Given the description of an element on the screen output the (x, y) to click on. 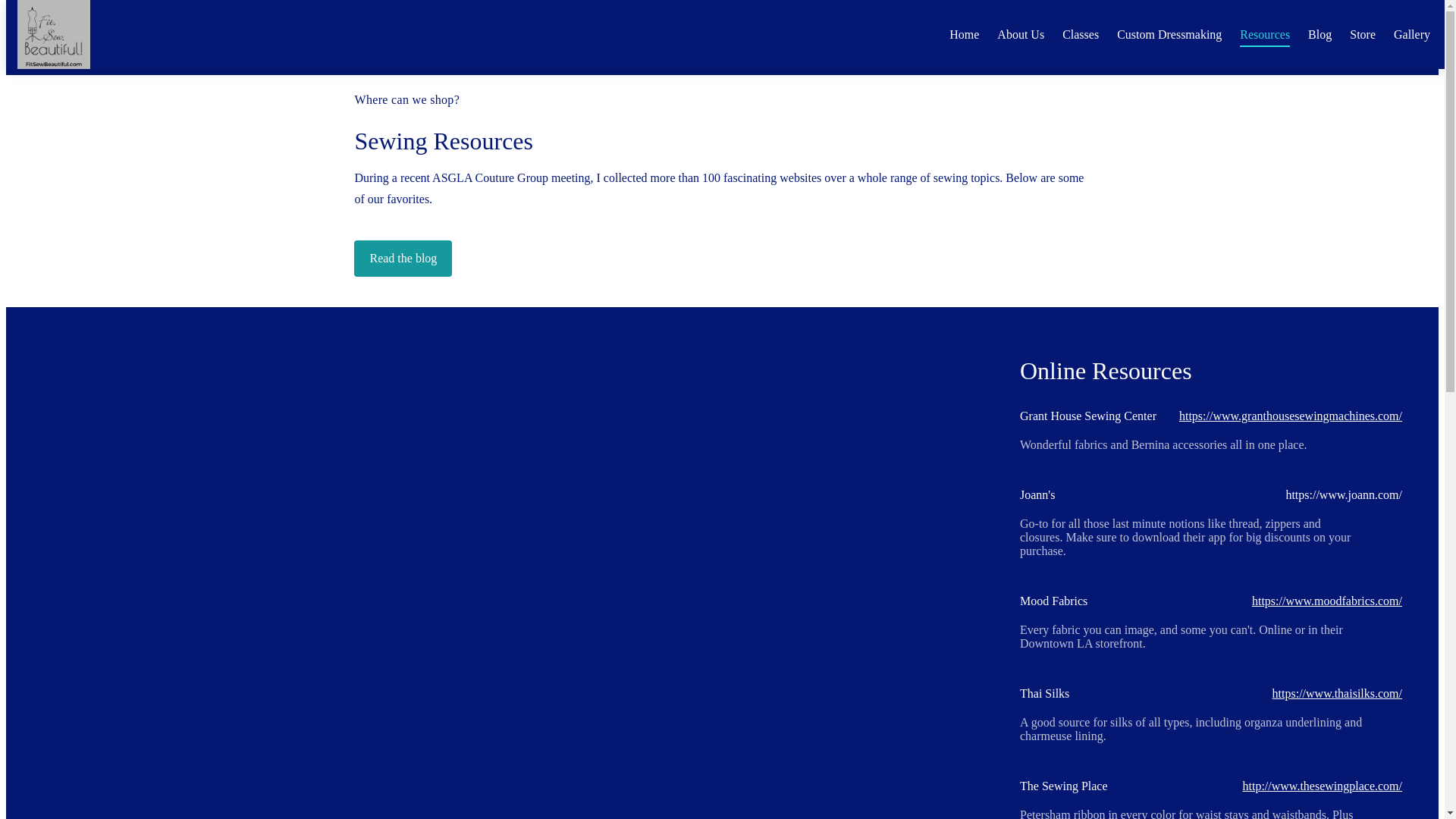
Blog (1319, 33)
Custom Dressmaking (1168, 33)
Classes (1080, 33)
Home (963, 33)
Read the blog (402, 258)
Store (1362, 33)
About Us (1020, 33)
Gallery (1411, 33)
Resources (1265, 33)
